Given the description of an element on the screen output the (x, y) to click on. 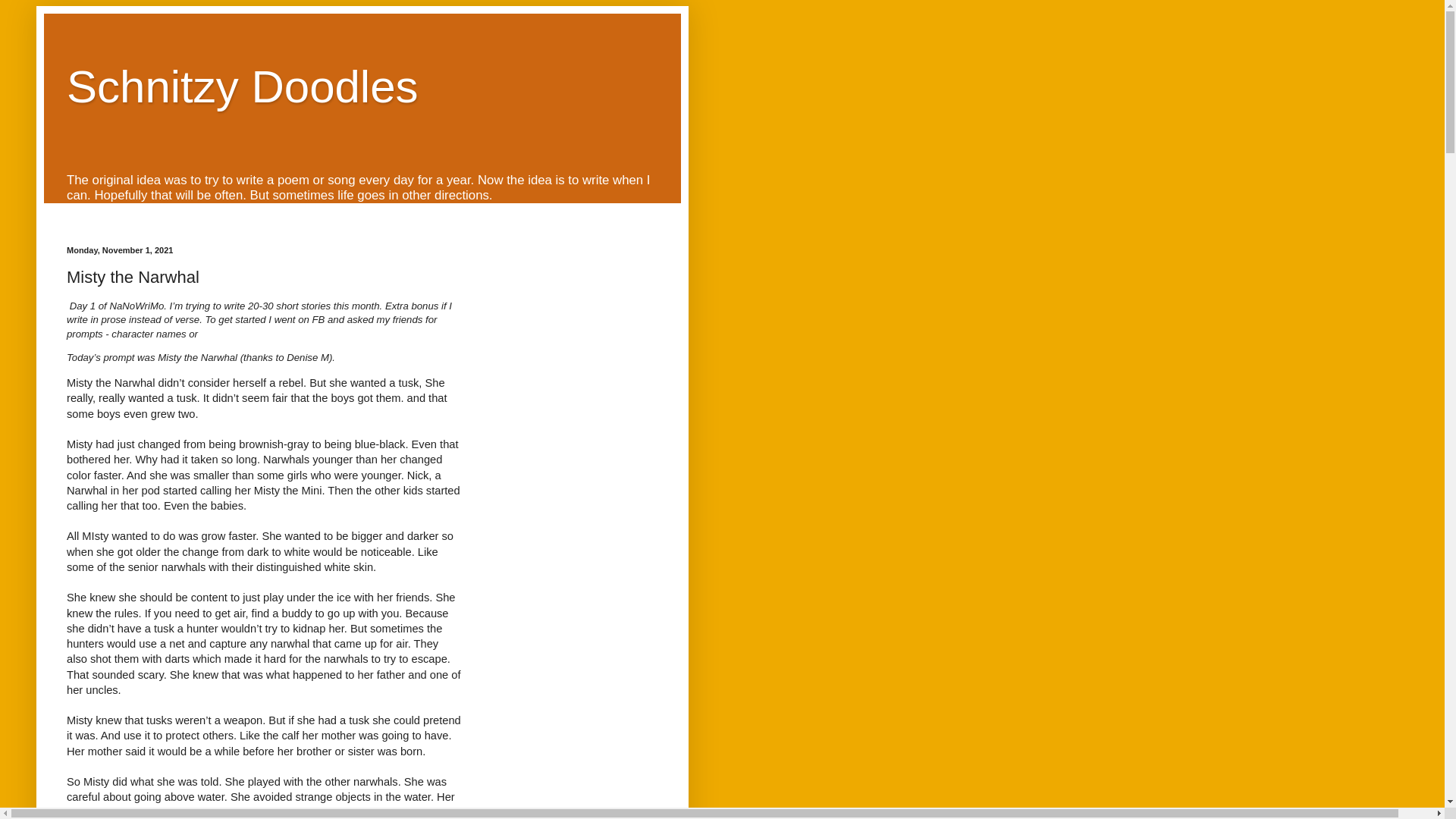
Schnitzy Doodles (242, 86)
